Given the description of an element on the screen output the (x, y) to click on. 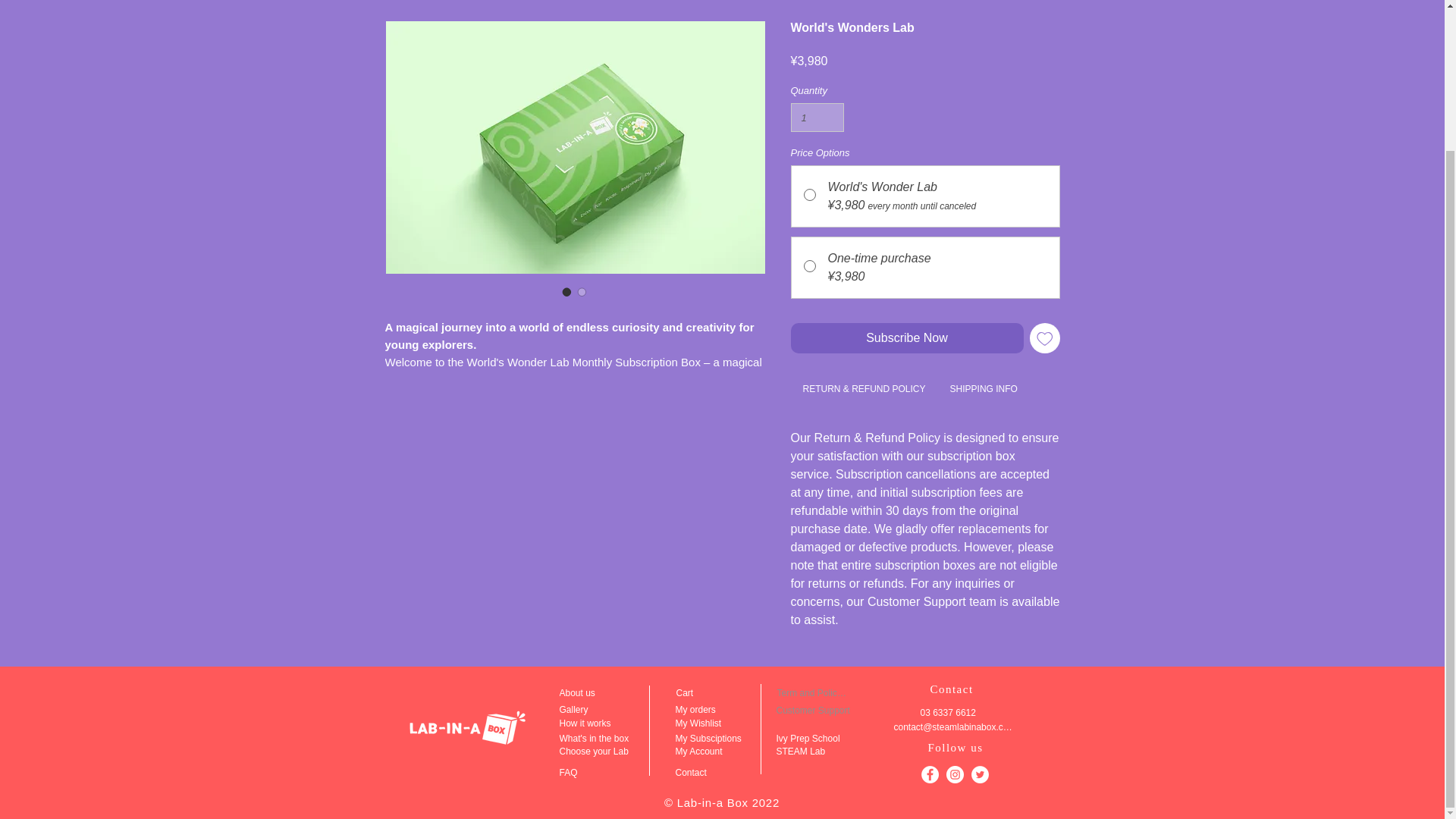
My orders (716, 709)
My Account (712, 751)
What's in the box (612, 738)
Gallery (593, 709)
Use right and left arrows to navigate between tabs (983, 391)
My Wishlist (709, 723)
Ivy Prep School (817, 738)
About us (593, 693)
My Subsciptions (720, 738)
STEAM Lab (817, 751)
